Given the description of an element on the screen output the (x, y) to click on. 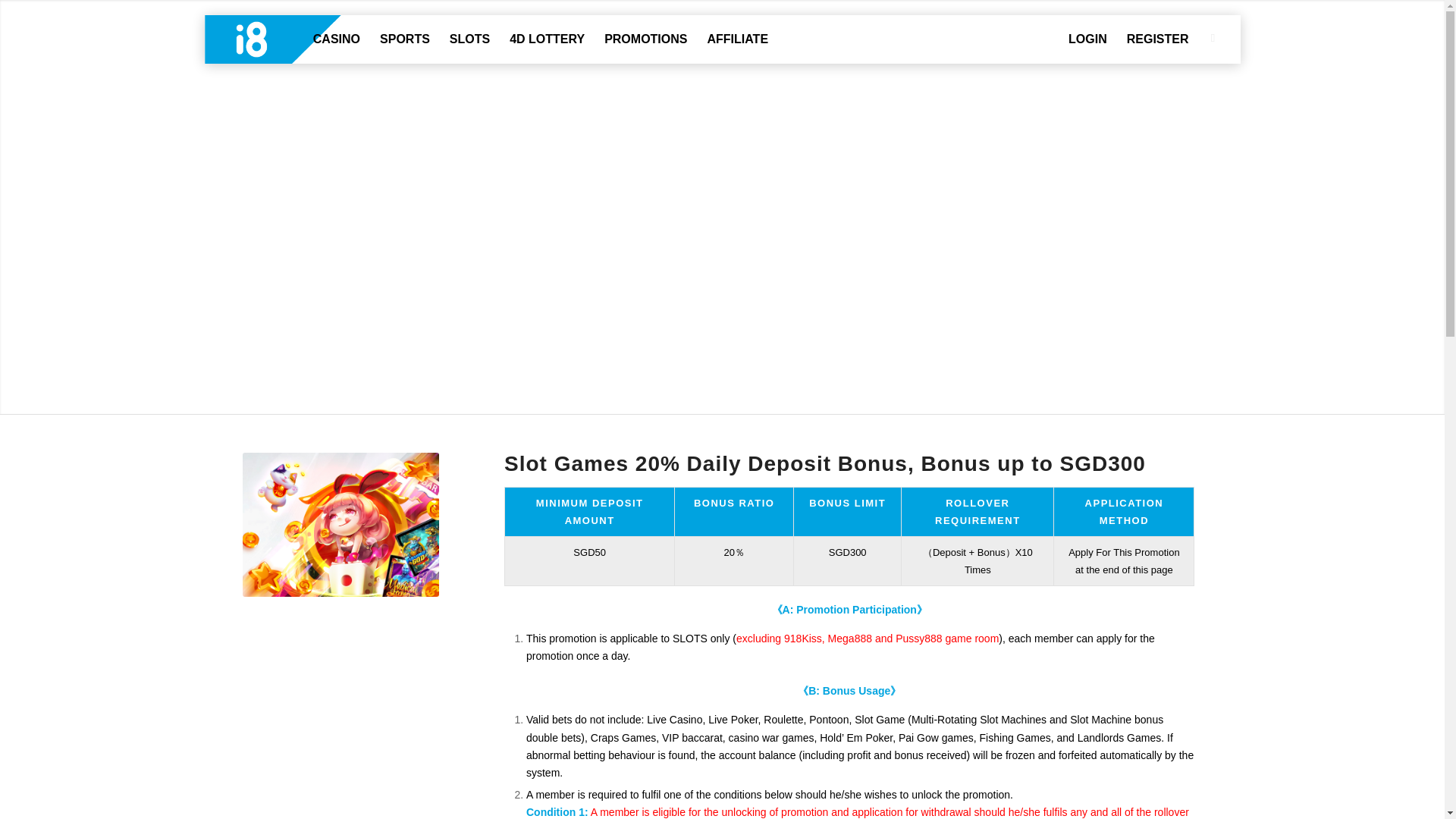
PROMOTIONS (645, 39)
AFFILIATE (737, 39)
i8 Header Logo (283, 39)
CASINO (335, 39)
SPORTS (404, 39)
LOGIN (1087, 39)
SLOTS (469, 39)
4D LOTTERY (546, 39)
REGISTER (1157, 39)
